Given the description of an element on the screen output the (x, y) to click on. 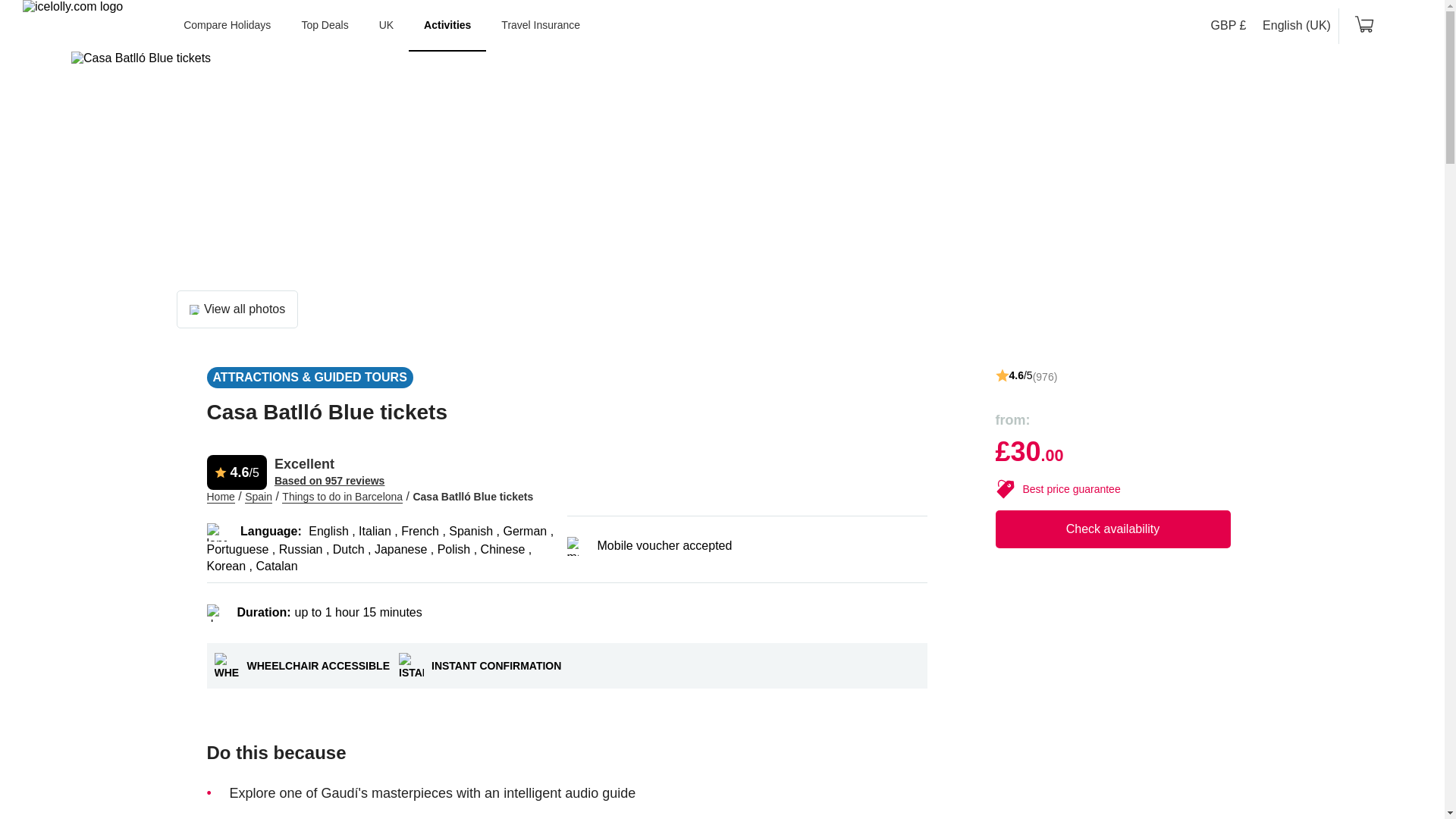
Travel Insurance (540, 25)
Activities (447, 25)
Based on 957 reviews (330, 480)
Check availability (1112, 528)
Things to do in Barcelona (342, 496)
Spain (258, 496)
Home (220, 496)
View all photos (237, 309)
Top Deals (323, 25)
